Given the description of an element on the screen output the (x, y) to click on. 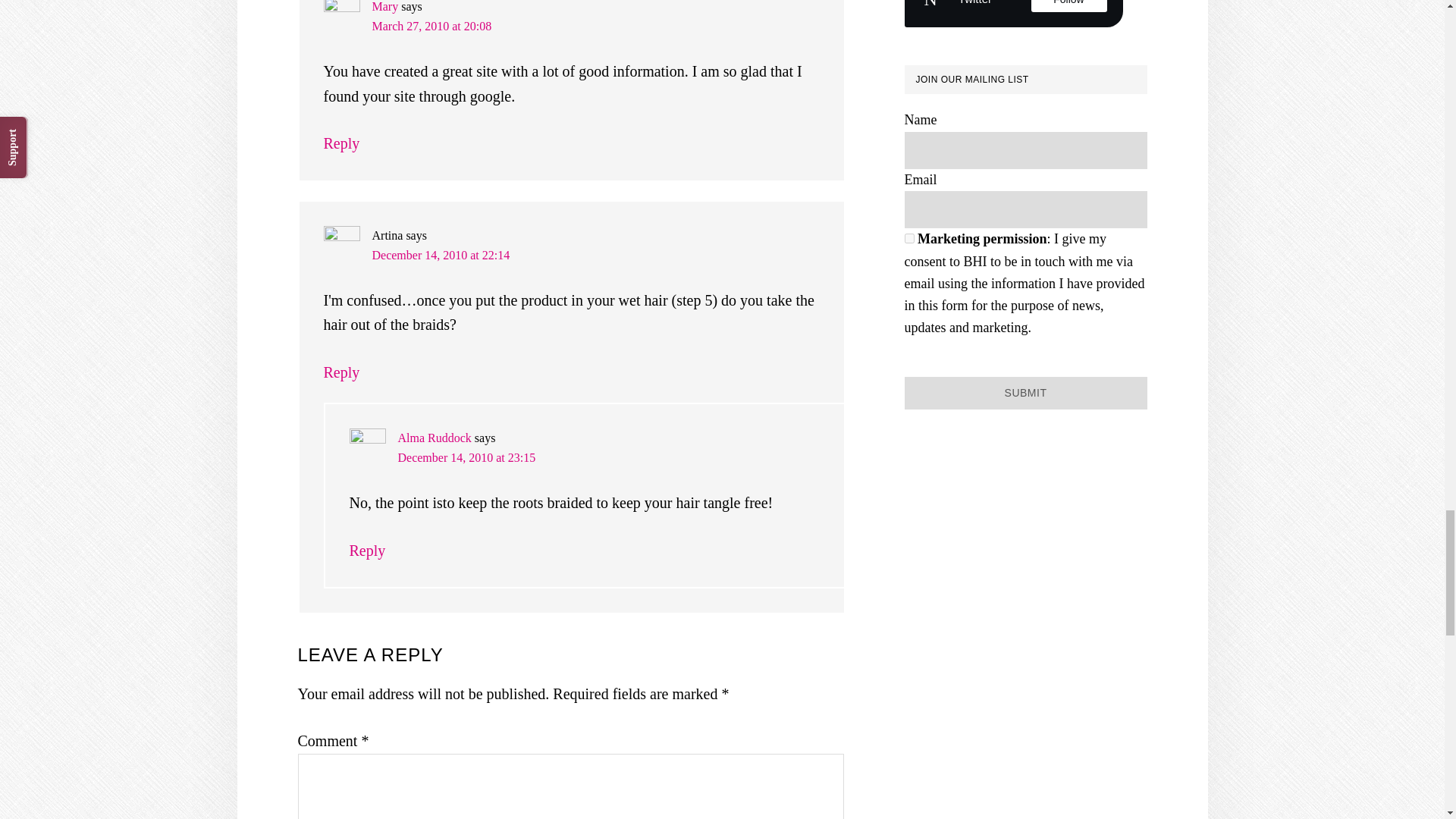
SUBMIT (1025, 392)
on (909, 238)
